Given the description of an element on the screen output the (x, y) to click on. 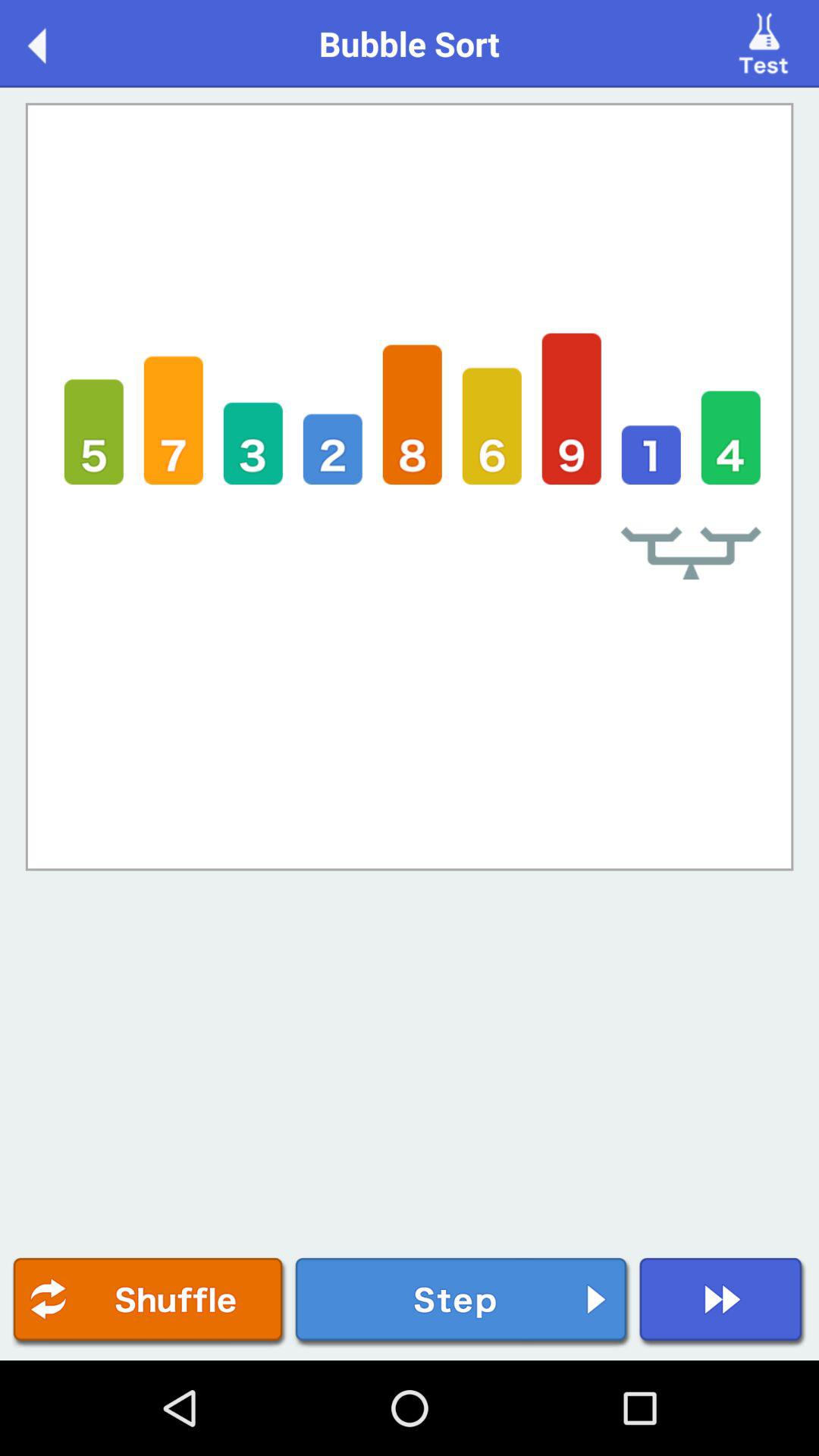
shuffle button (149, 1302)
